Given the description of an element on the screen output the (x, y) to click on. 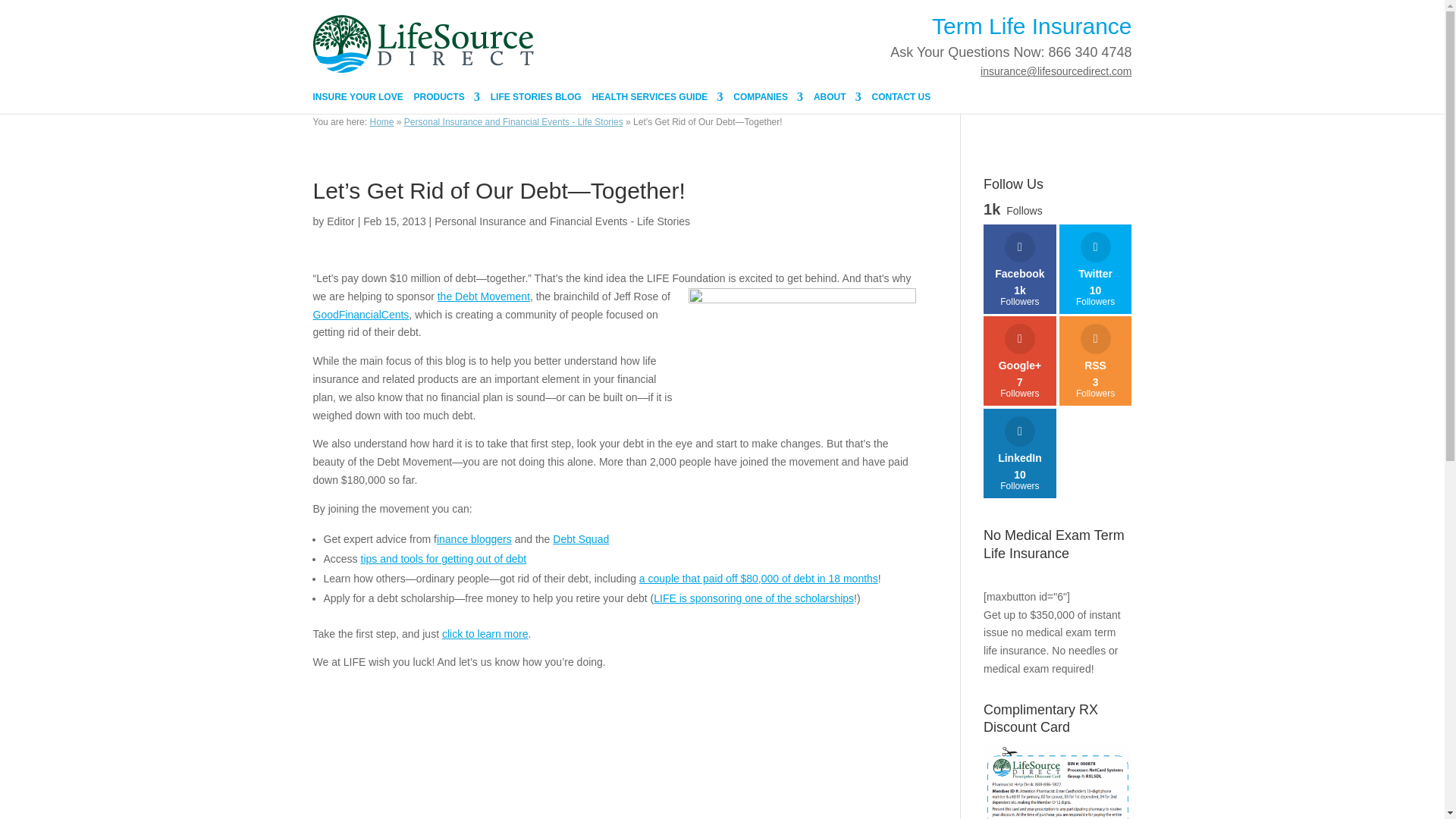
erase debt (801, 361)
CONTACT US (901, 102)
ABOUT (837, 102)
Print Your RX Discount Card (1057, 781)
INSURE YOUR LOVE (358, 102)
LIFE STORIES BLOG (535, 102)
Posts by Editor (340, 221)
COMPANIES (768, 102)
Life Insurance Suppliers and Carriers (768, 102)
PRODUCTS (446, 102)
Home (381, 122)
HEALTH SERVICES GUIDE (656, 102)
